Given the description of an element on the screen output the (x, y) to click on. 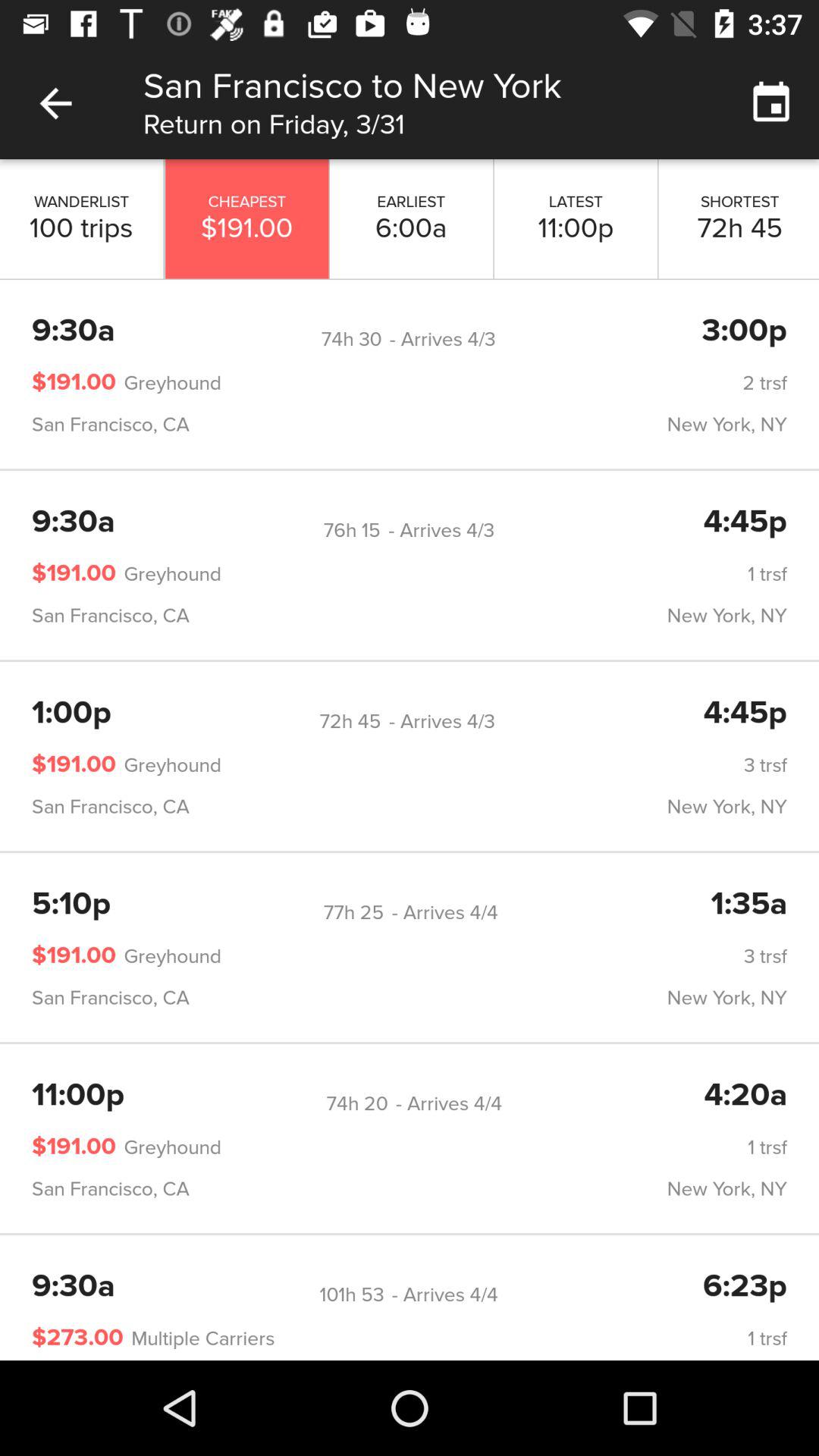
flip to the multiple carriers icon (198, 1338)
